Given the description of an element on the screen output the (x, y) to click on. 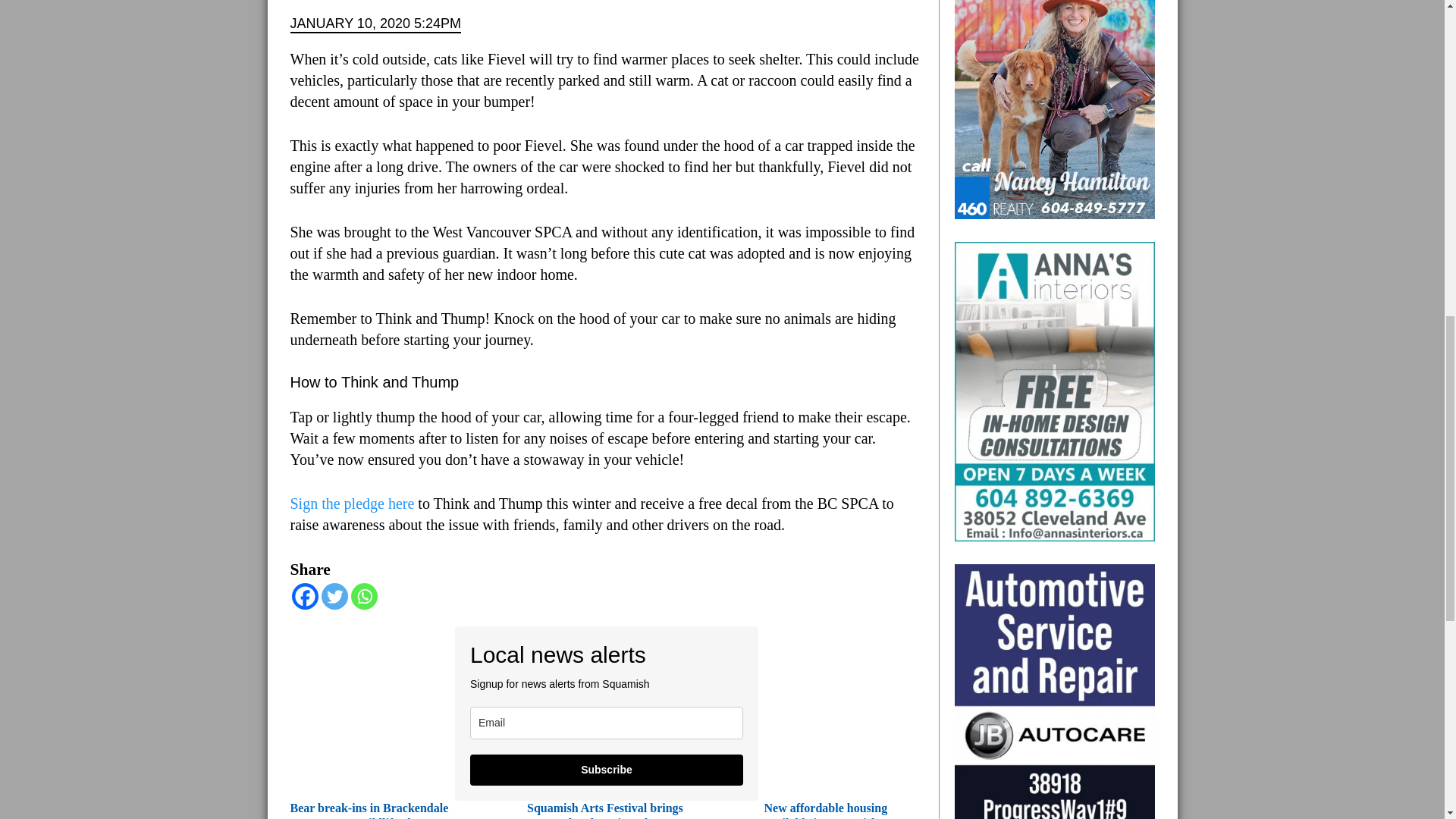
Twitter (334, 596)
Facebook (304, 596)
Sign the pledge here (351, 503)
Whatsapp (363, 596)
Subscribe (606, 769)
